Given the description of an element on the screen output the (x, y) to click on. 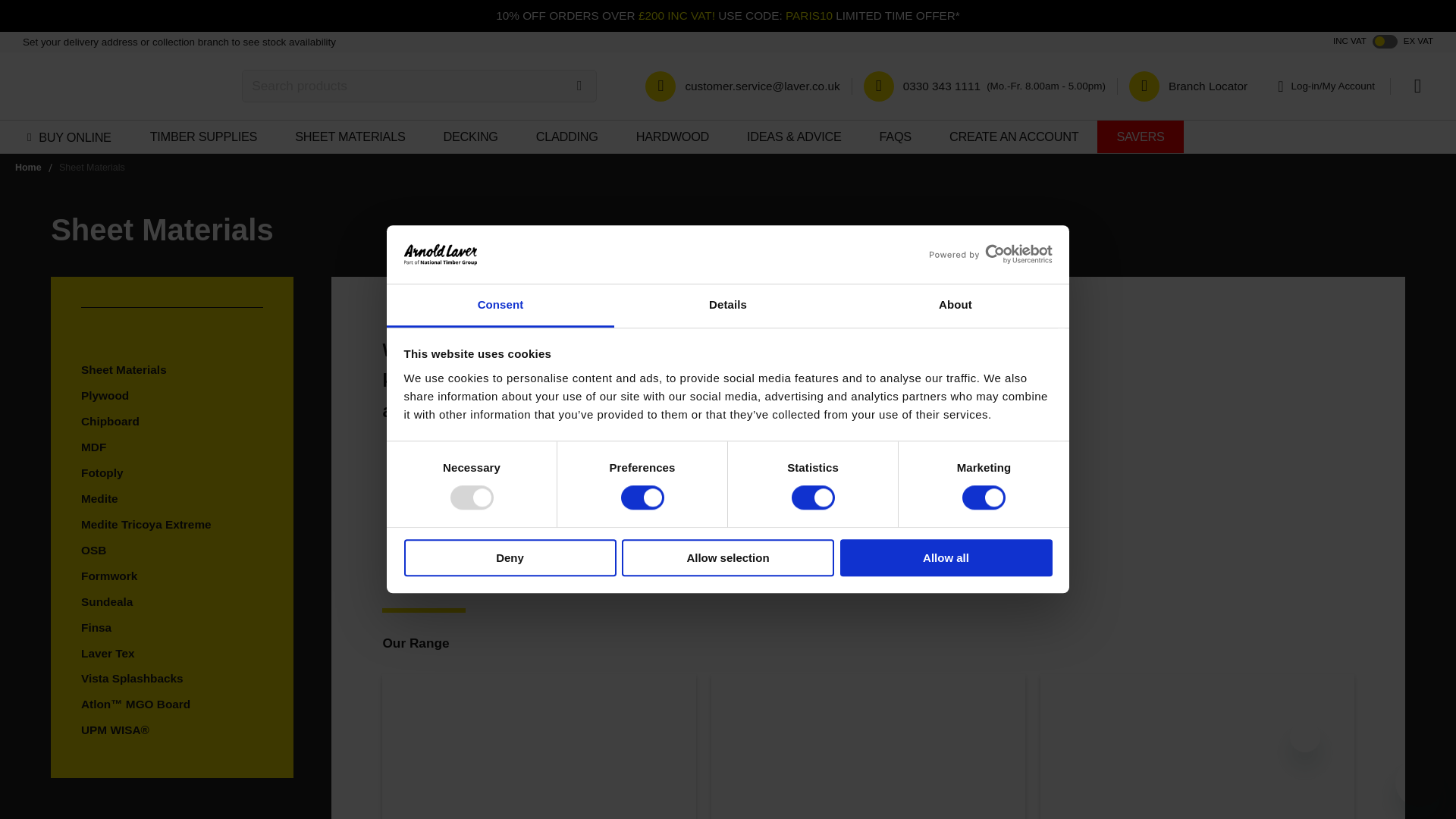
Consent (500, 305)
Details (727, 305)
About (954, 305)
